Given the description of an element on the screen output the (x, y) to click on. 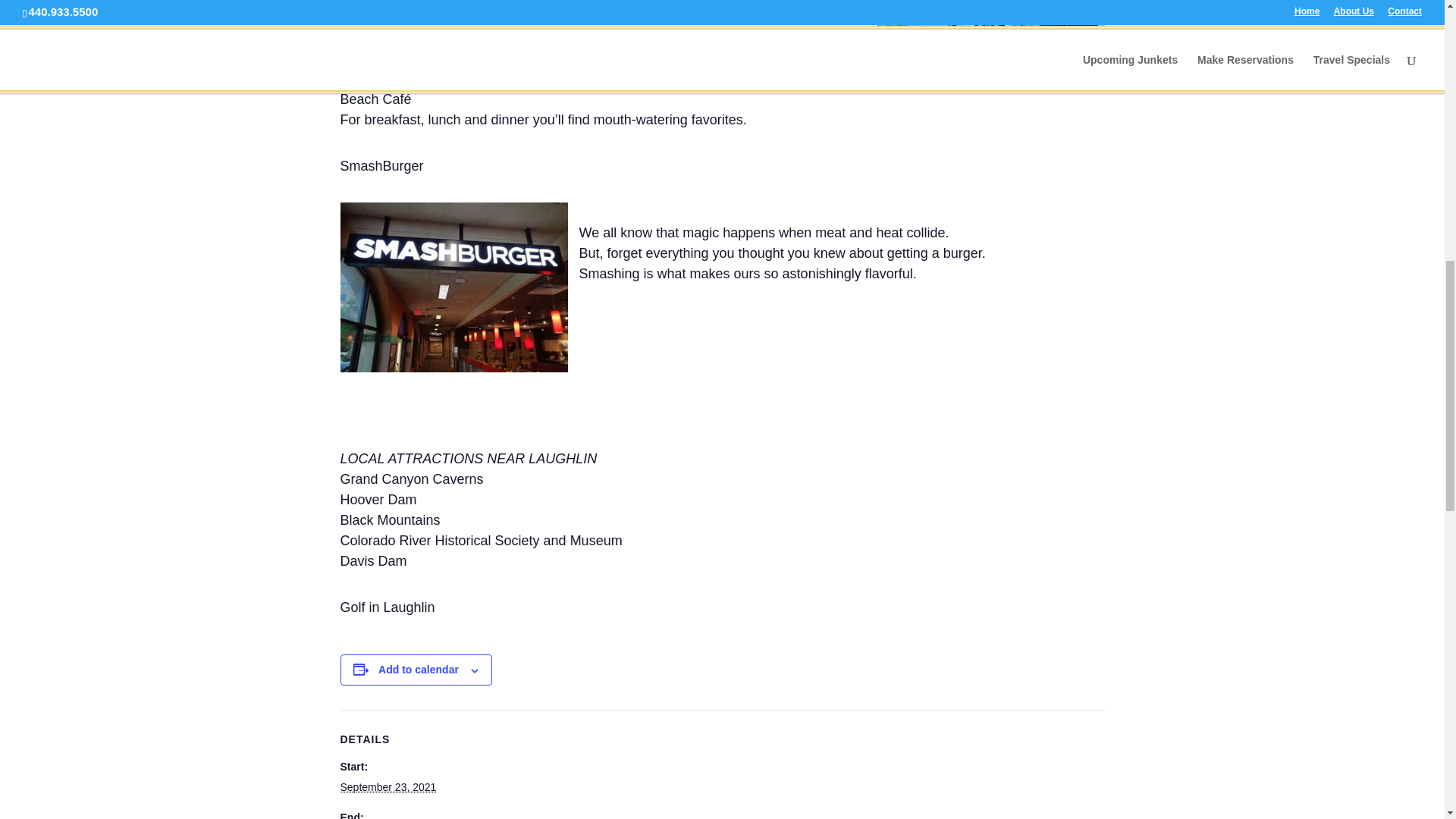
Add to calendar (418, 669)
2021-09-23 (387, 787)
